Given the description of an element on the screen output the (x, y) to click on. 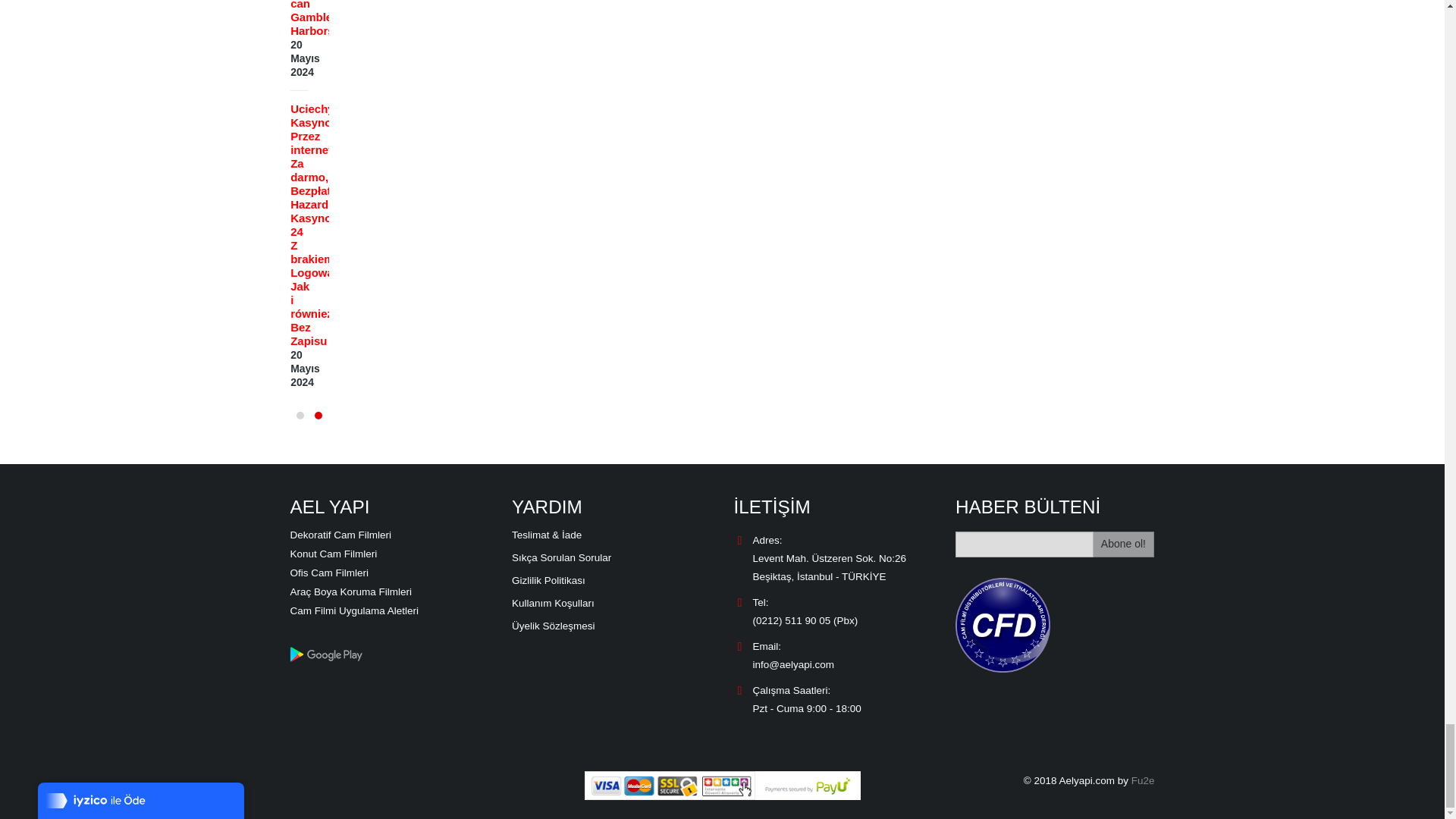
E-Posta (1024, 544)
Abone ol! (1123, 544)
